Given the description of an element on the screen output the (x, y) to click on. 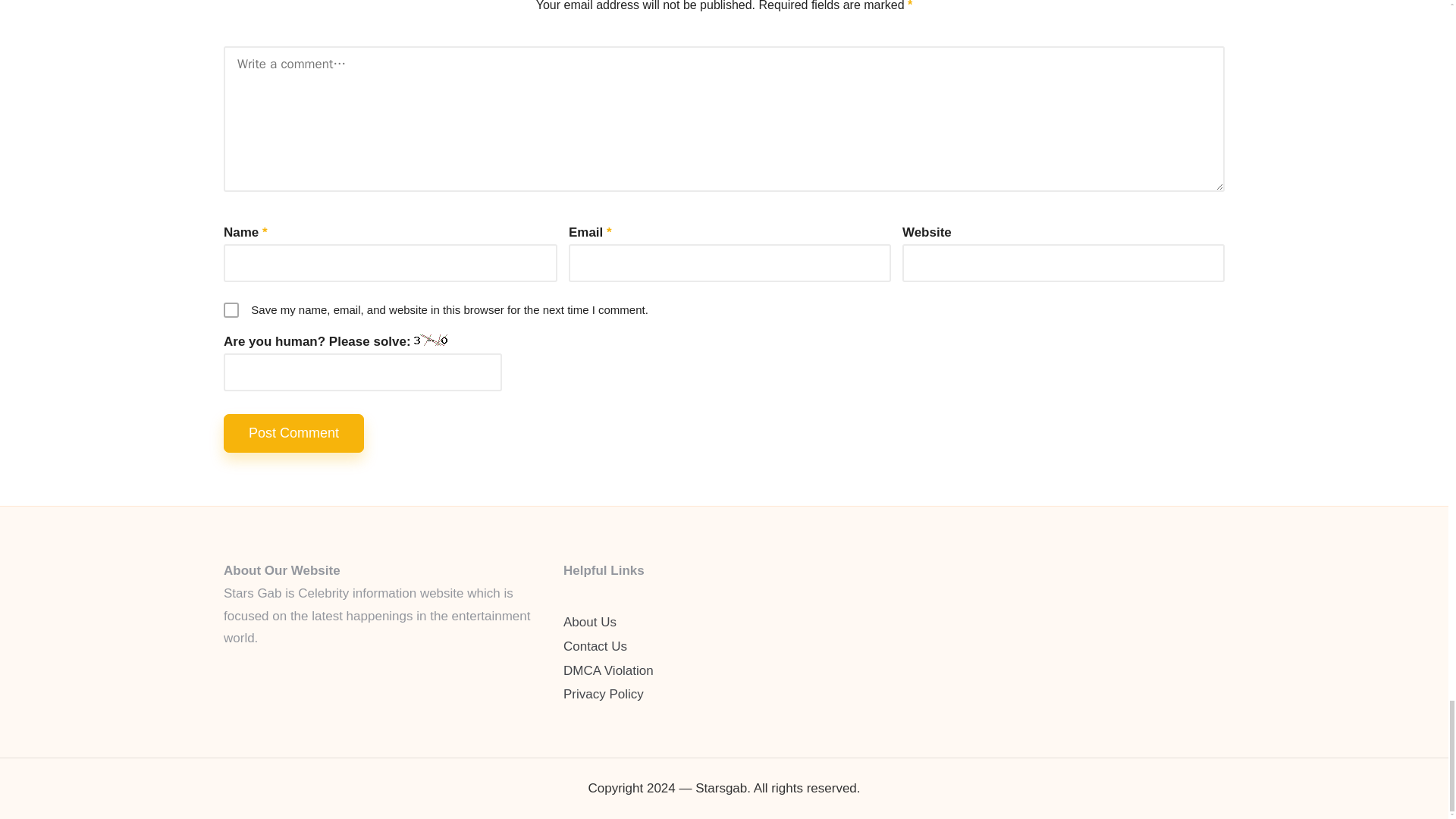
Post Comment (294, 433)
yes (231, 309)
